Given the description of an element on the screen output the (x, y) to click on. 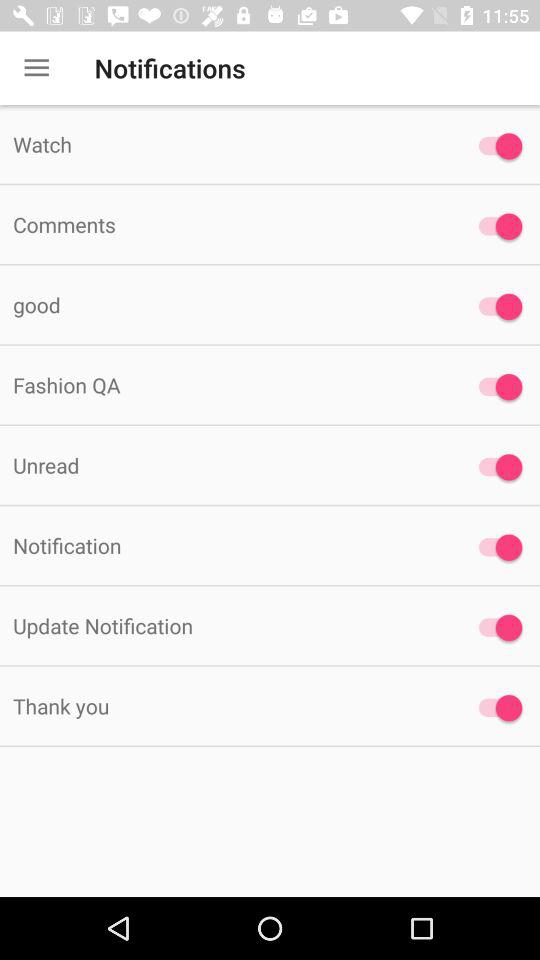
toggle fashion qa notifications (495, 387)
